Given the description of an element on the screen output the (x, y) to click on. 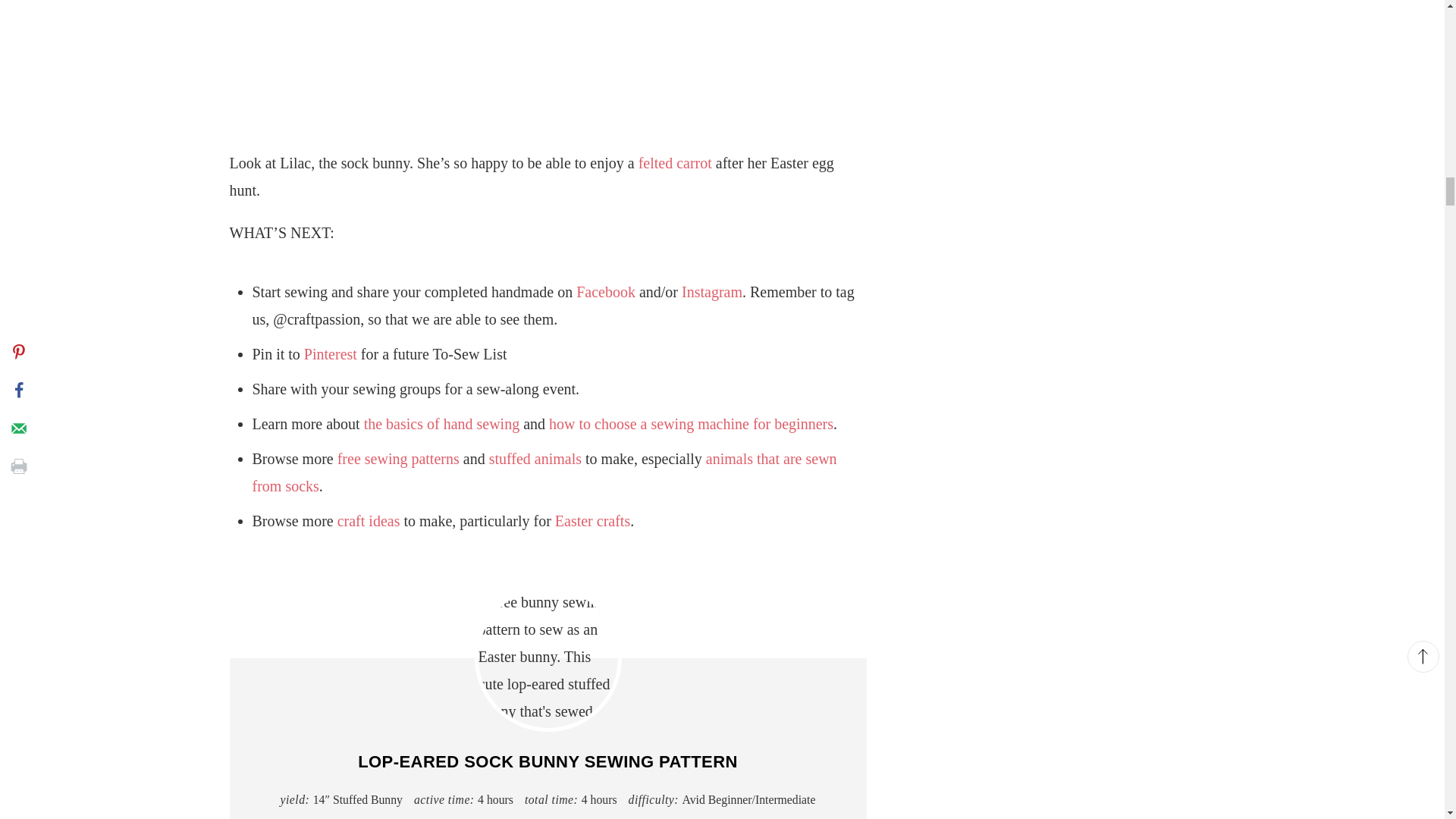
Pinterest (330, 353)
bunny carrot 1200 (547, 59)
Instagram (711, 291)
Facebook (605, 291)
felted carrot (675, 162)
long ear sock bunny 1200 (547, 658)
